Given the description of an element on the screen output the (x, y) to click on. 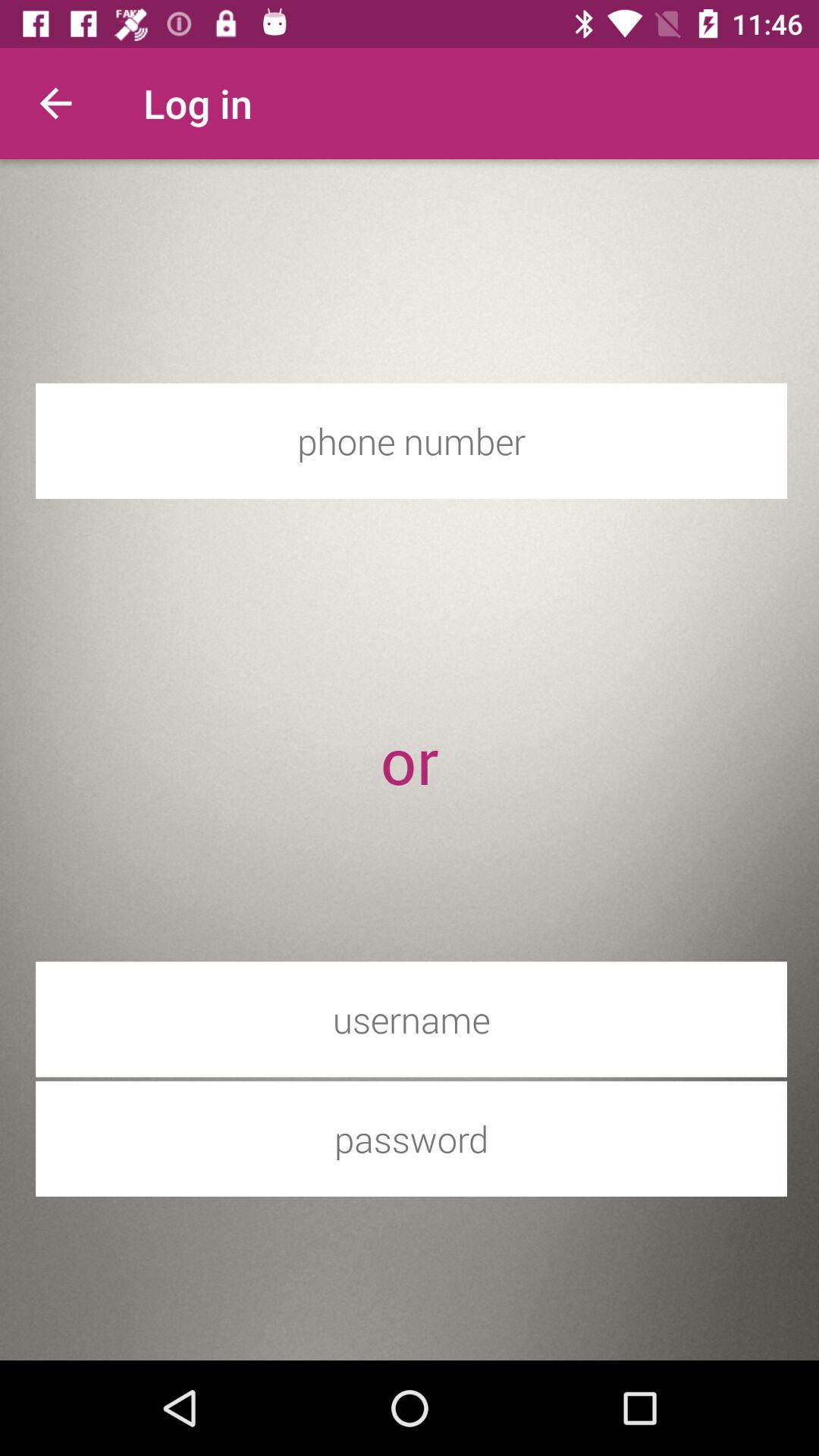
enter the phone number (411, 440)
